Given the description of an element on the screen output the (x, y) to click on. 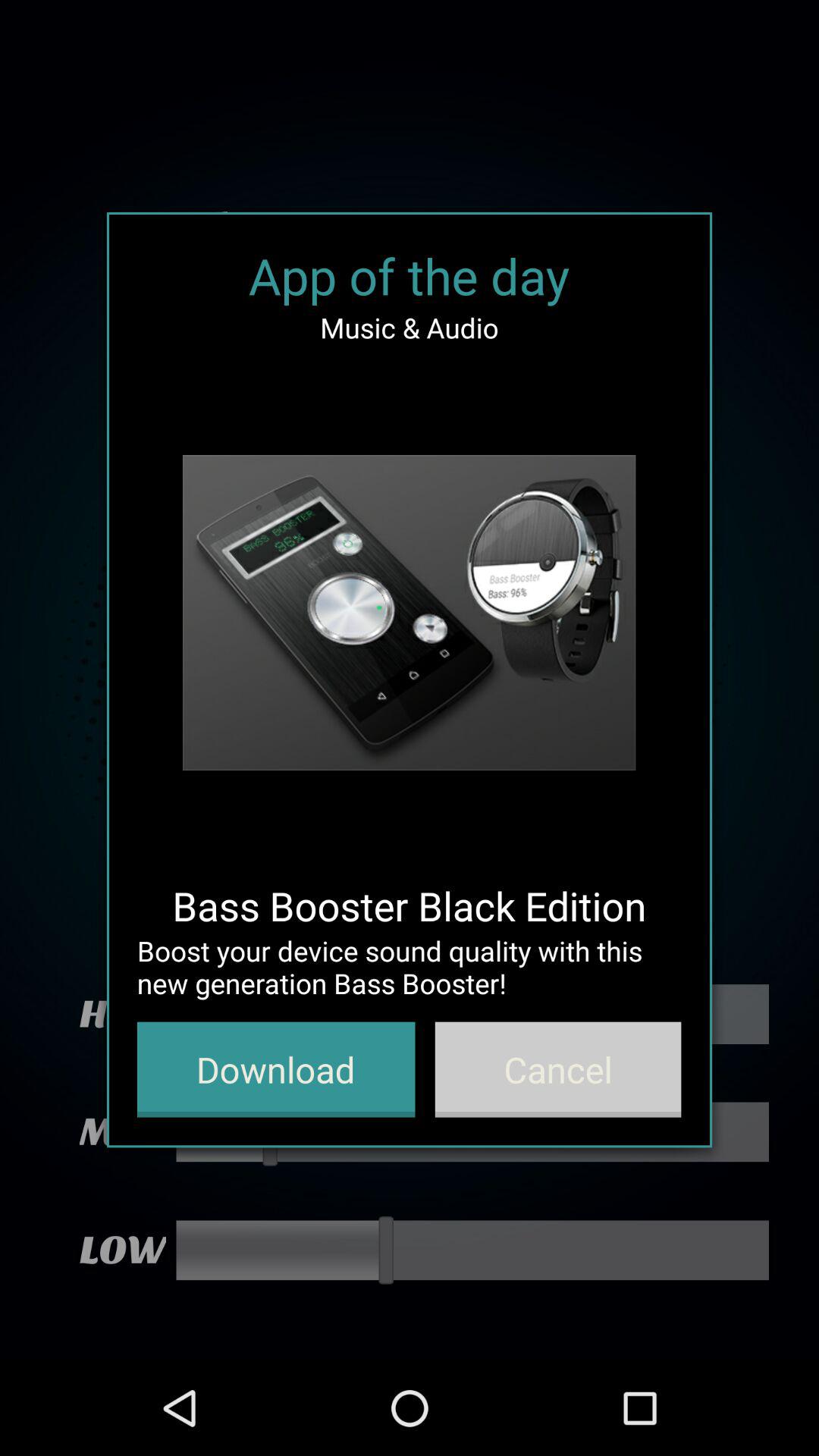
tap download item (276, 1069)
